Given the description of an element on the screen output the (x, y) to click on. 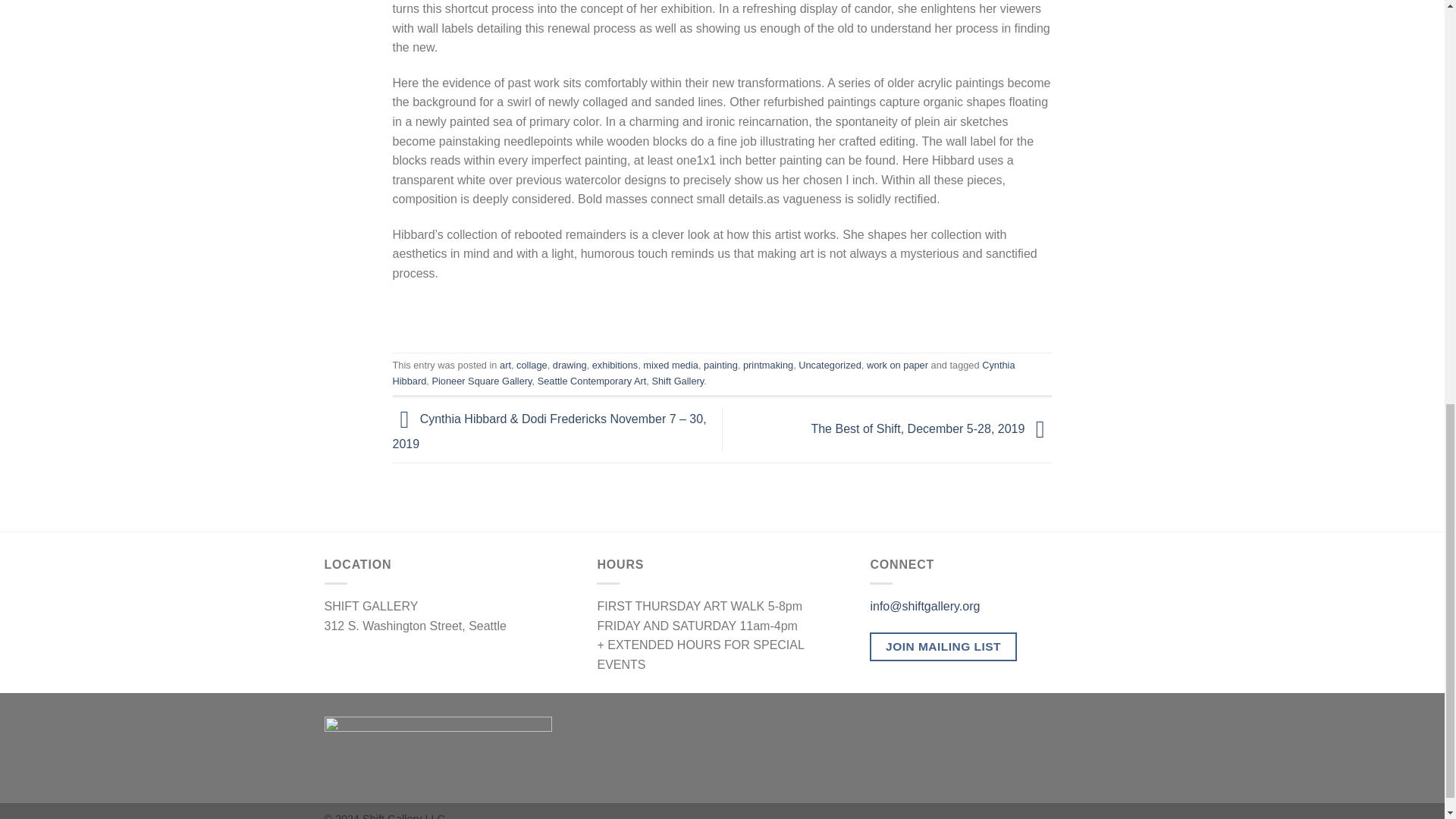
drawing (569, 365)
mixed media (670, 365)
art (505, 365)
collage (531, 365)
Seattle Contemporary Art (591, 380)
JOIN MAILING LIST (942, 646)
printmaking (767, 365)
Shift Gallery (676, 380)
exhibitions (614, 365)
The Best of Shift, December 5-28, 2019 (930, 428)
work on paper (897, 365)
Uncategorized (829, 365)
painting (720, 365)
Cynthia Hibbard (703, 372)
Pioneer Square Gallery (480, 380)
